Given the description of an element on the screen output the (x, y) to click on. 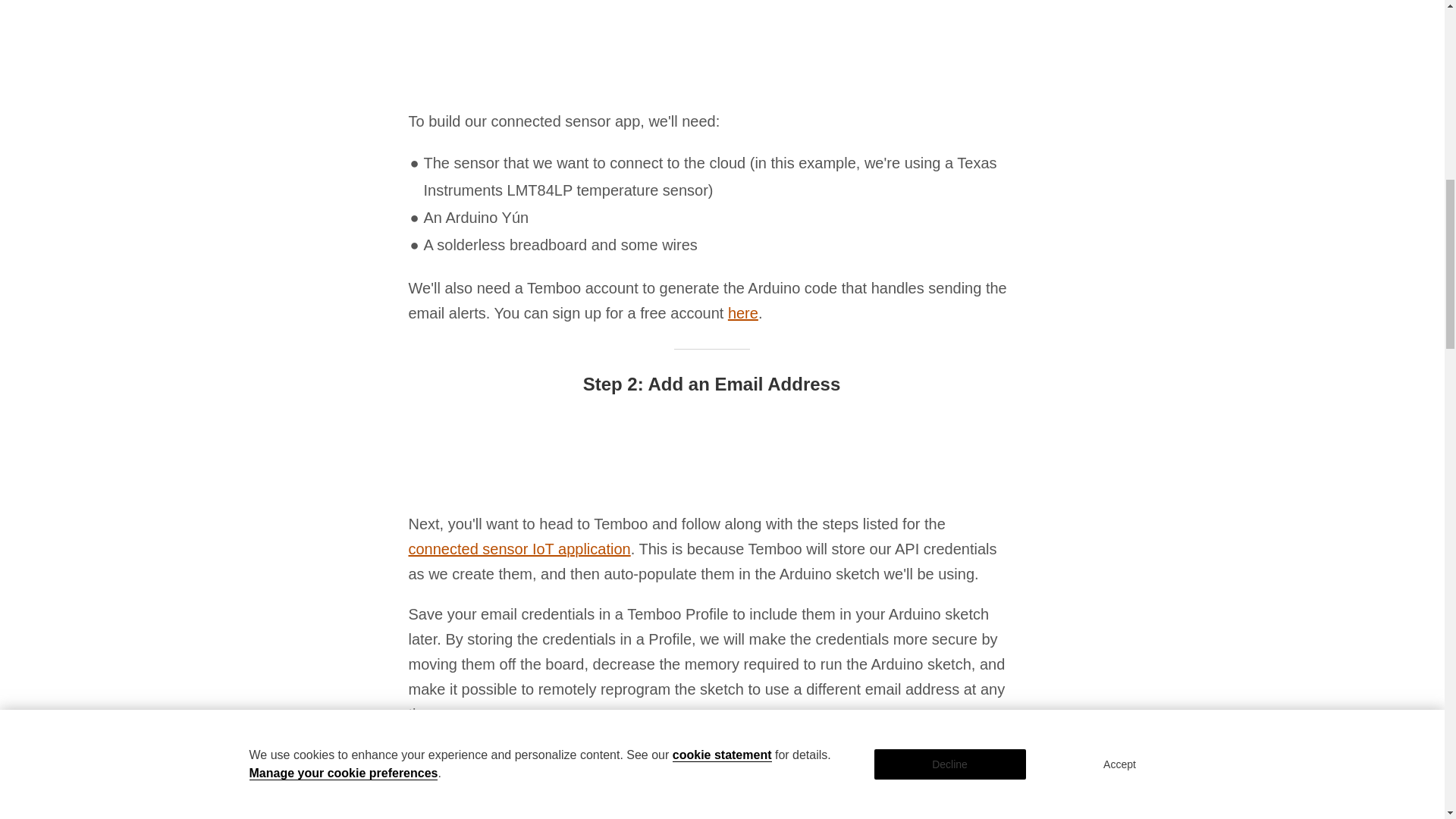
here (743, 312)
connected sensor IoT application (518, 548)
